Given the description of an element on the screen output the (x, y) to click on. 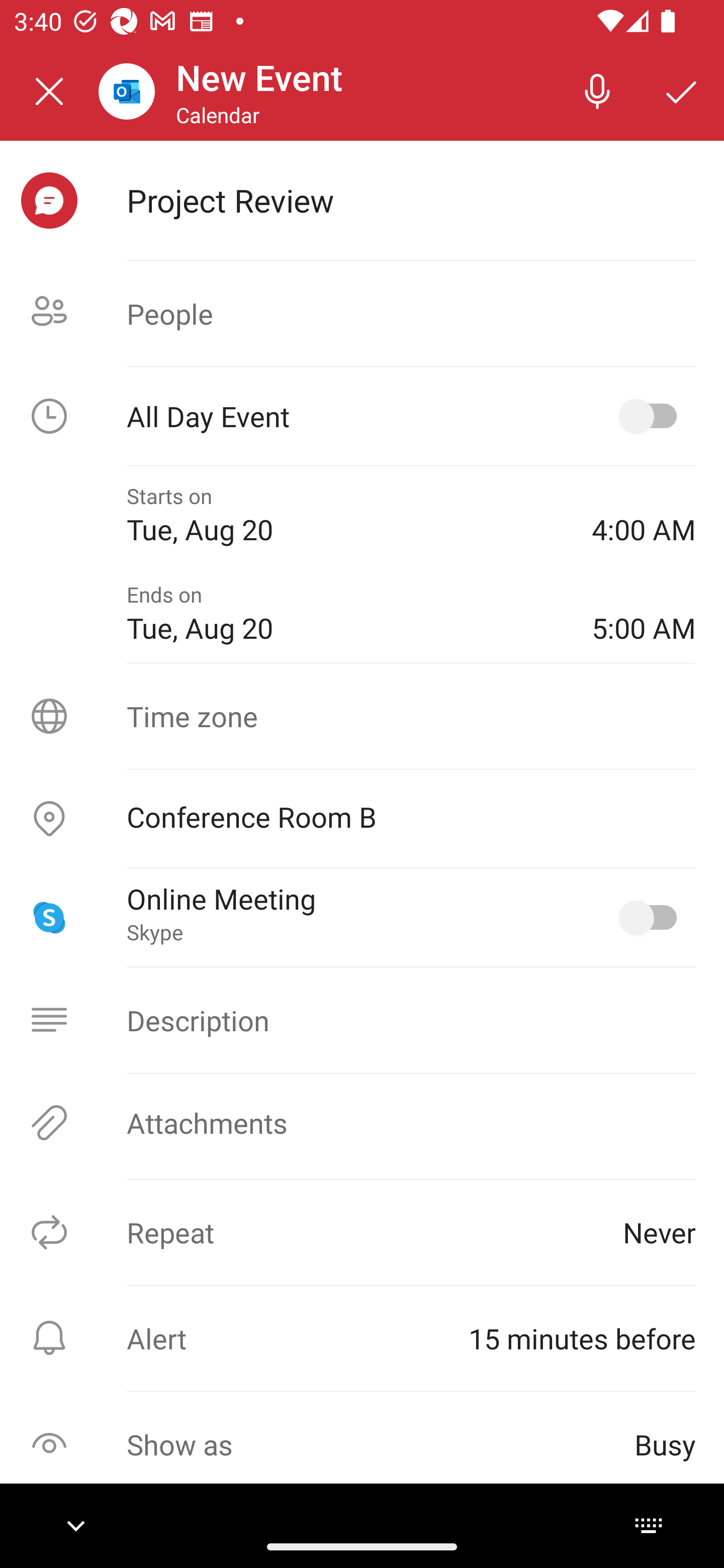
Close (49, 91)
Save (681, 90)
Project Review (410, 200)
review selected, event icon picker (48, 200)
People (362, 313)
All Day Event (362, 415)
Starts on Tue, Aug 20 (344, 514)
4:00 AM (643, 514)
Ends on Tue, Aug 20 (344, 613)
5:00 AM (643, 613)
Time zone (362, 715)
Location, Conference Room B Conference Room B (362, 818)
Online Meeting, Skype selected (651, 917)
Description (362, 1019)
Attachments (362, 1122)
Repeat Never (362, 1232)
Alert ⁨15 minutes before (362, 1337)
Show as Busy (362, 1444)
